Given the description of an element on the screen output the (x, y) to click on. 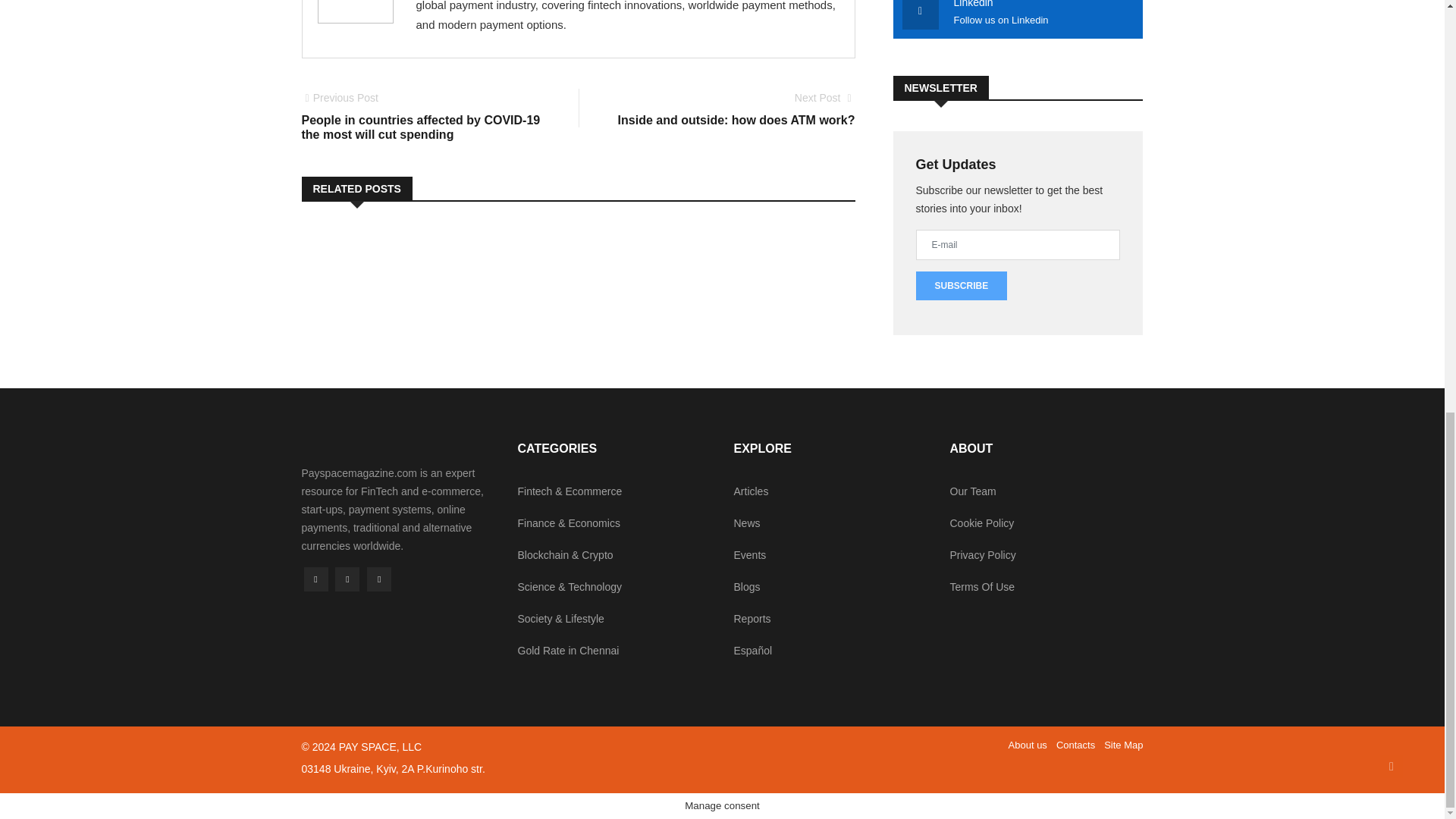
RSS (378, 579)
Twitter (346, 579)
Facebook (733, 109)
